Given the description of an element on the screen output the (x, y) to click on. 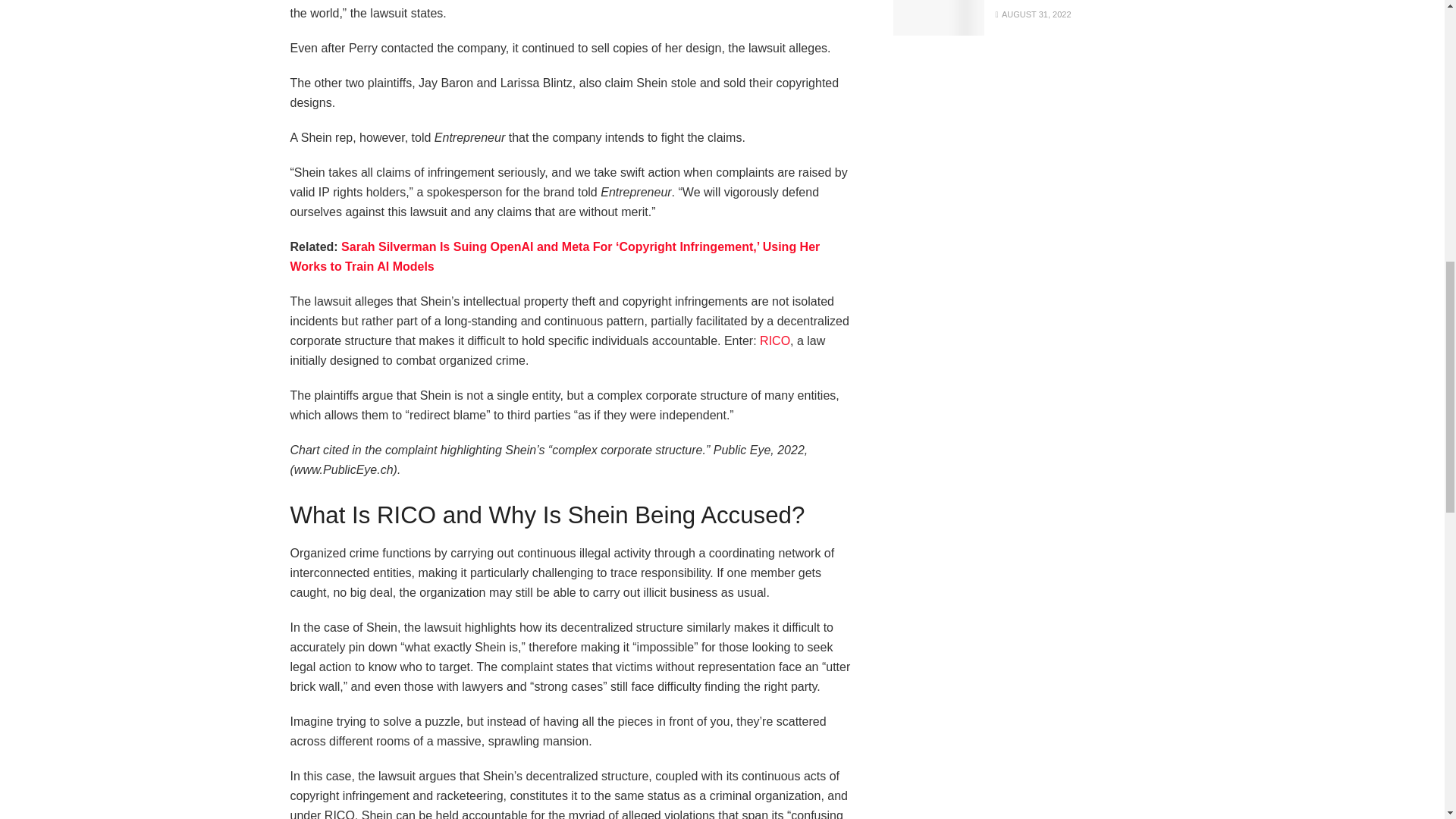
RICO (775, 340)
